Given the description of an element on the screen output the (x, y) to click on. 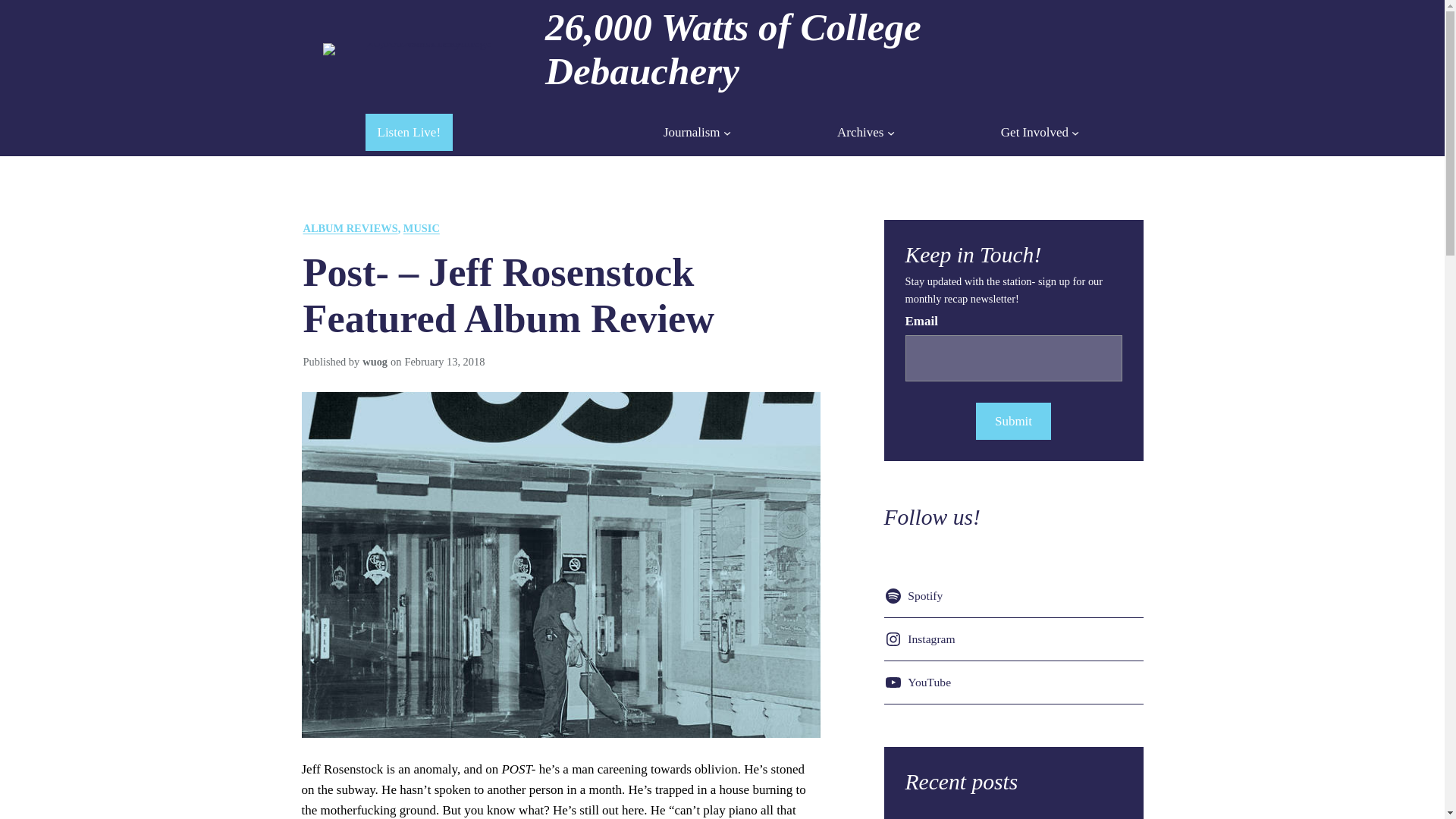
Archives (860, 132)
Submit (1012, 420)
26,000 Watts of College Debauchery (732, 48)
Listen Live! (408, 131)
Spotify (916, 596)
YouTube (919, 682)
Get Involved (1034, 132)
MUSIC (421, 227)
ALBUM REVIEWS (349, 227)
February 13, 2018 (444, 361)
Journalism (691, 132)
Instagram (921, 638)
